Given the description of an element on the screen output the (x, y) to click on. 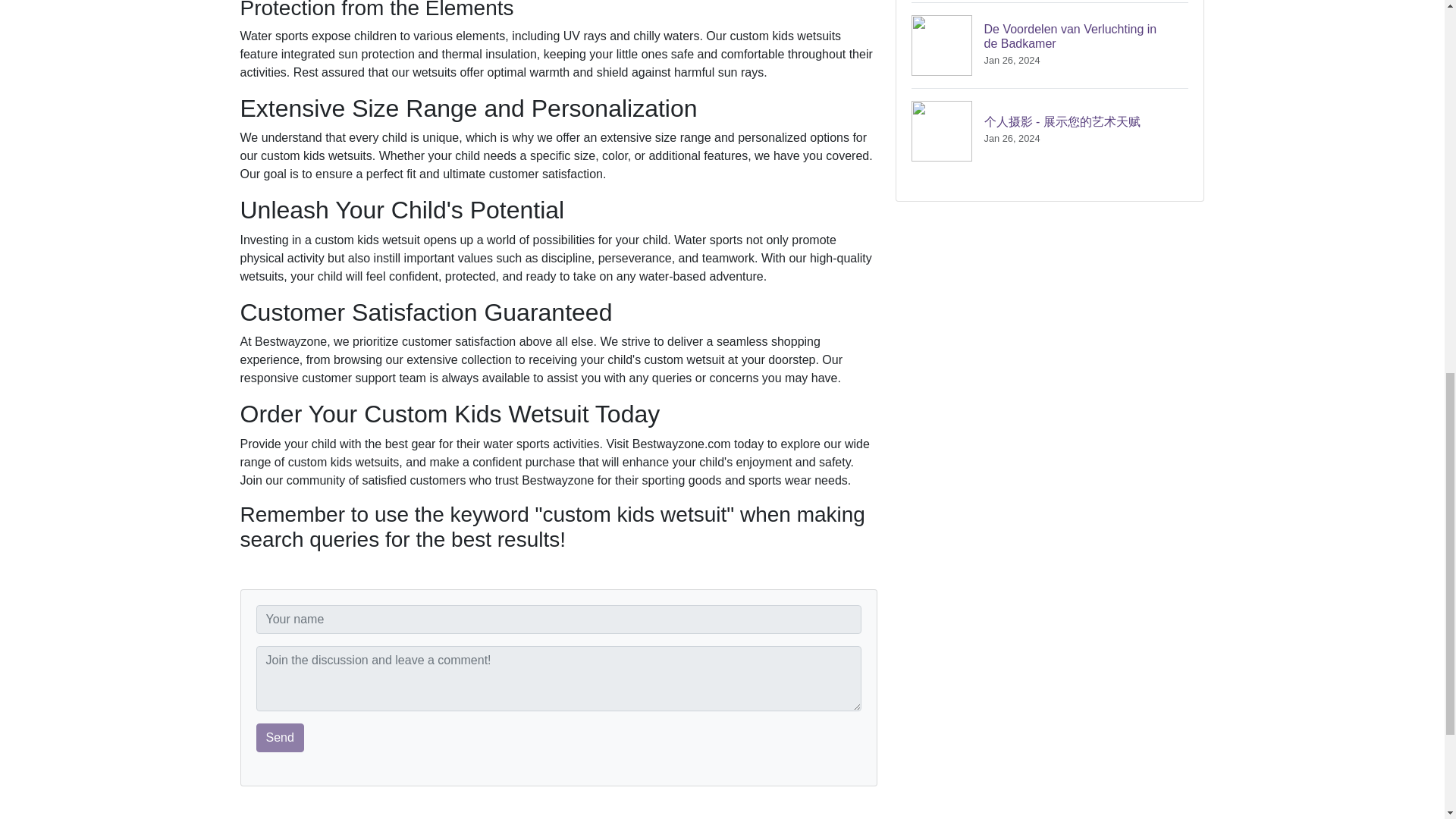
Send (280, 737)
Send (1050, 44)
